Given the description of an element on the screen output the (x, y) to click on. 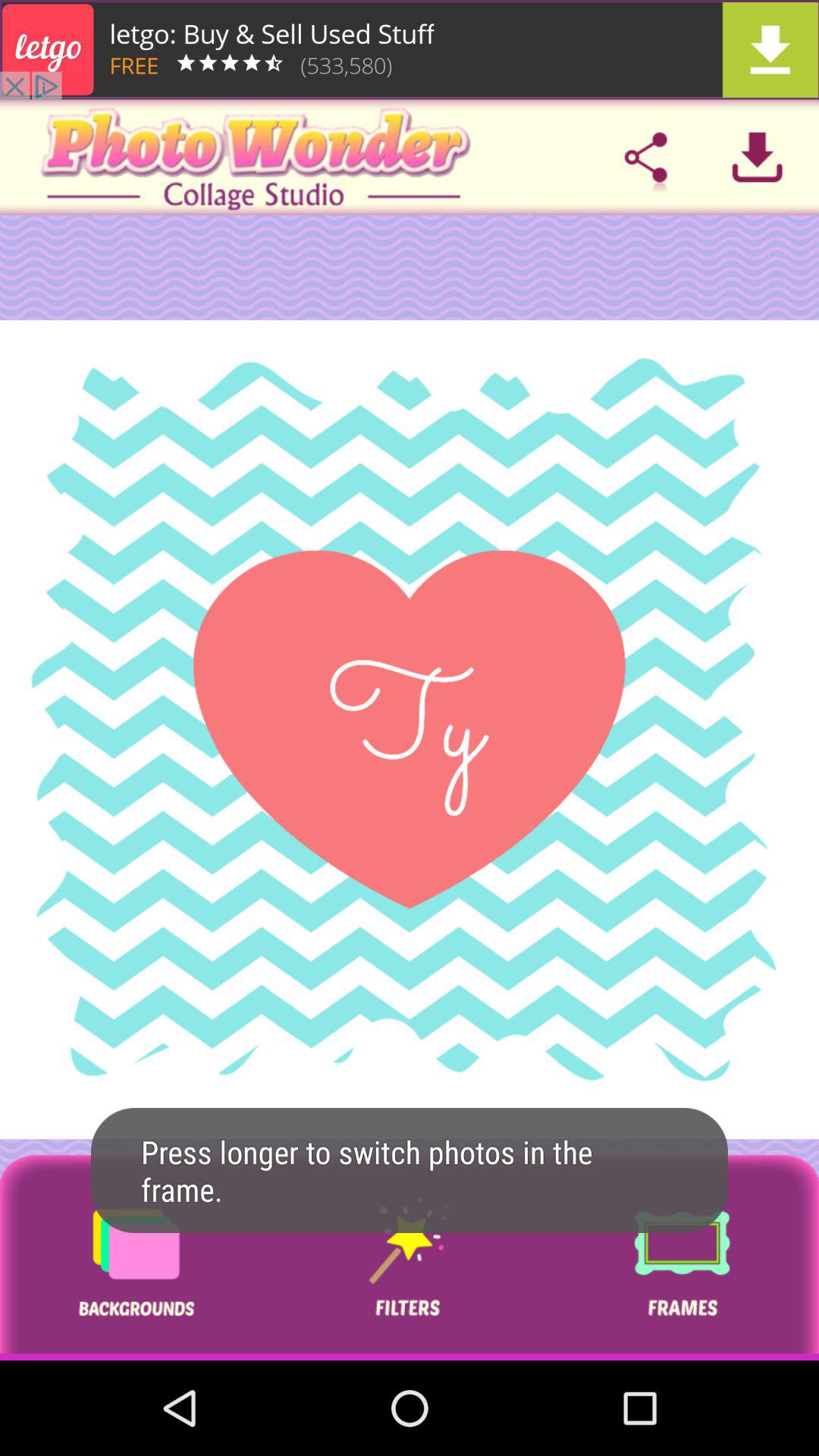
share this (645, 157)
